Given the description of an element on the screen output the (x, y) to click on. 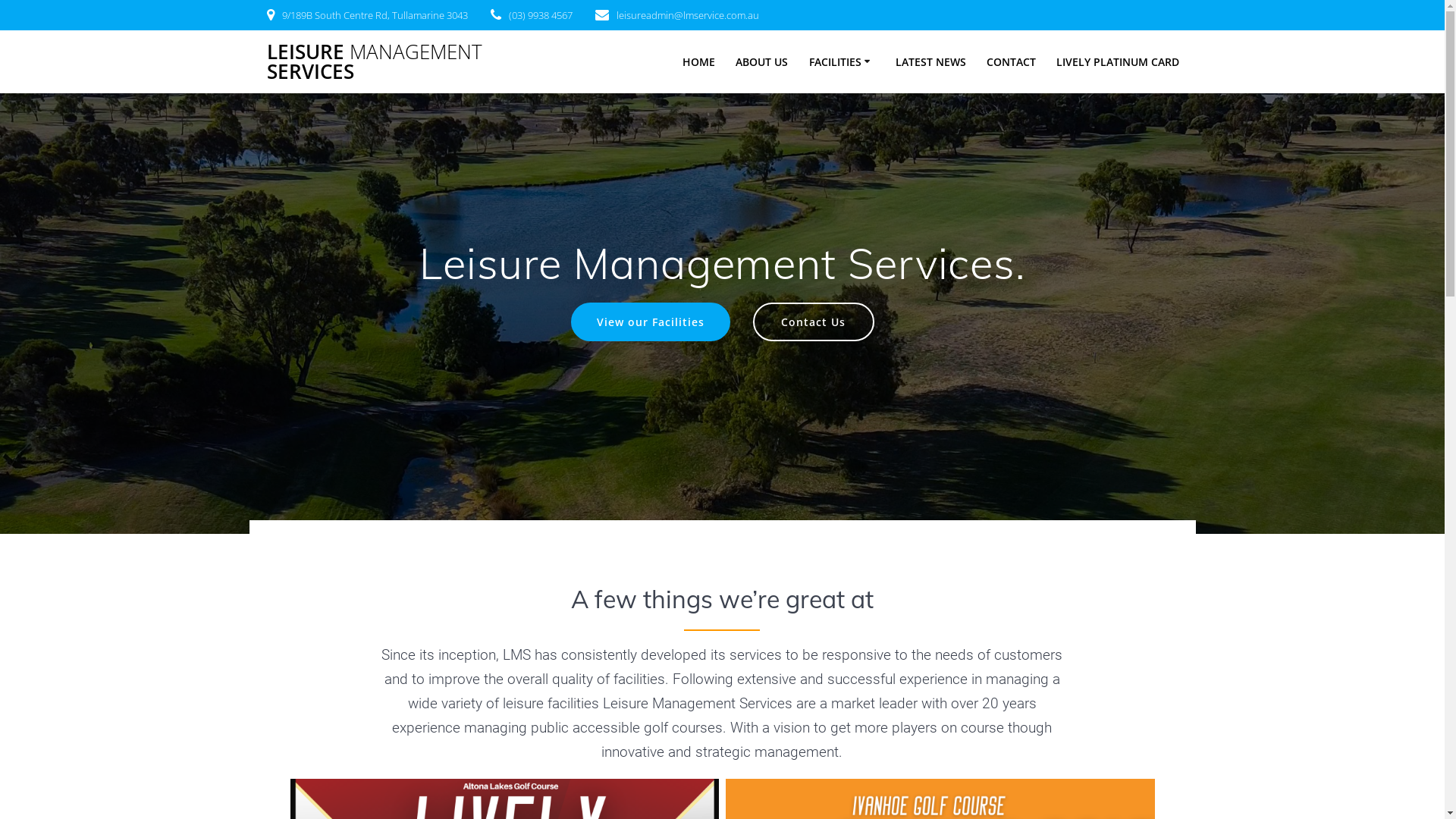
HOME Element type: text (698, 61)
View our Facilities Element type: text (649, 321)
Contact Us Element type: text (812, 321)
CONTACT Element type: text (1010, 61)
ABOUT US Element type: text (761, 61)
FACILITIES Element type: text (842, 61)
LATEST NEWS Element type: text (930, 61)
LIVELY PLATINUM CARD Element type: text (1117, 61)
LEISURE MANAGEMENT SERVICES Element type: text (395, 61)
